Given the description of an element on the screen output the (x, y) to click on. 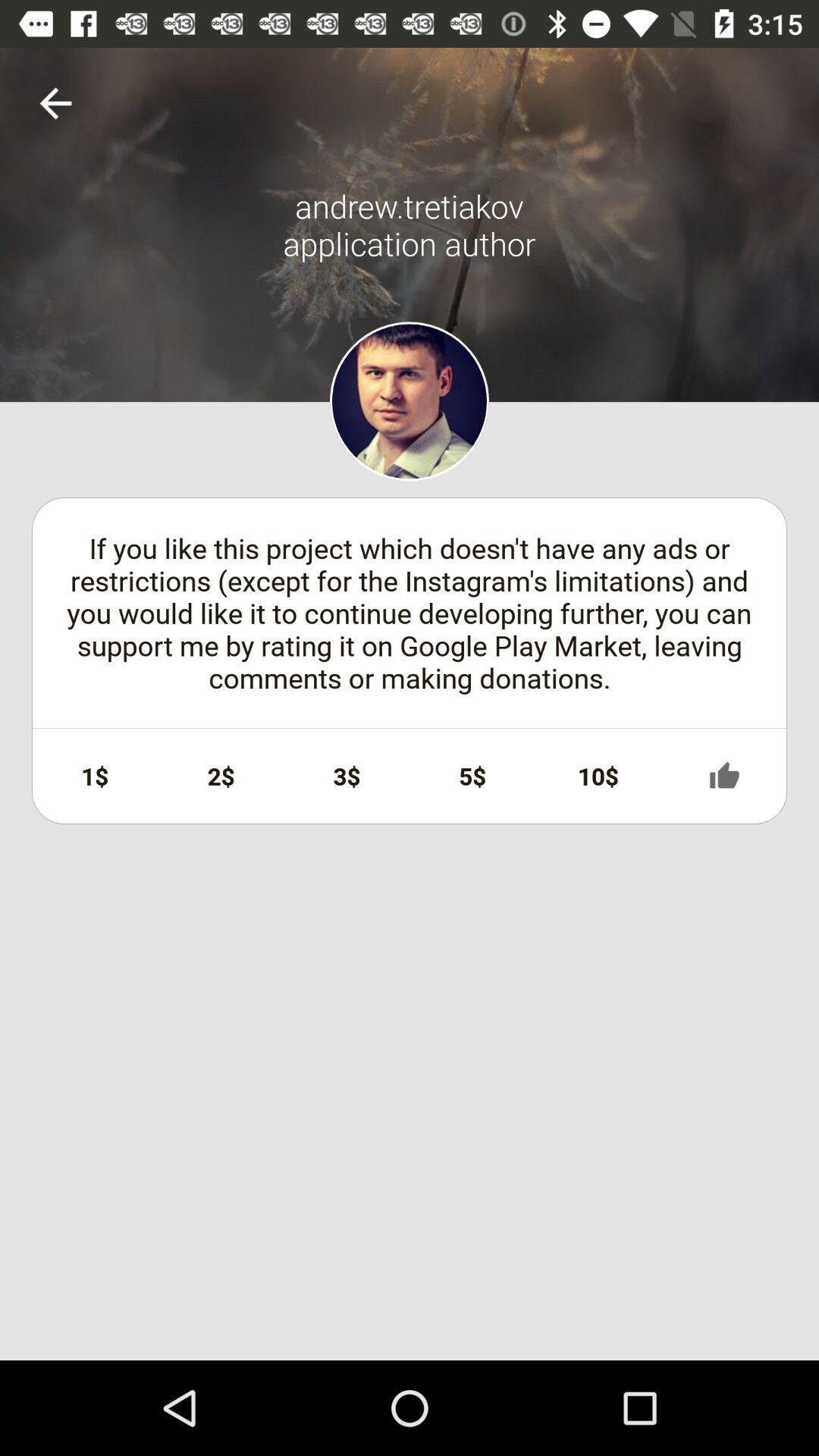
tap icon next to 3$ (221, 776)
